Given the description of an element on the screen output the (x, y) to click on. 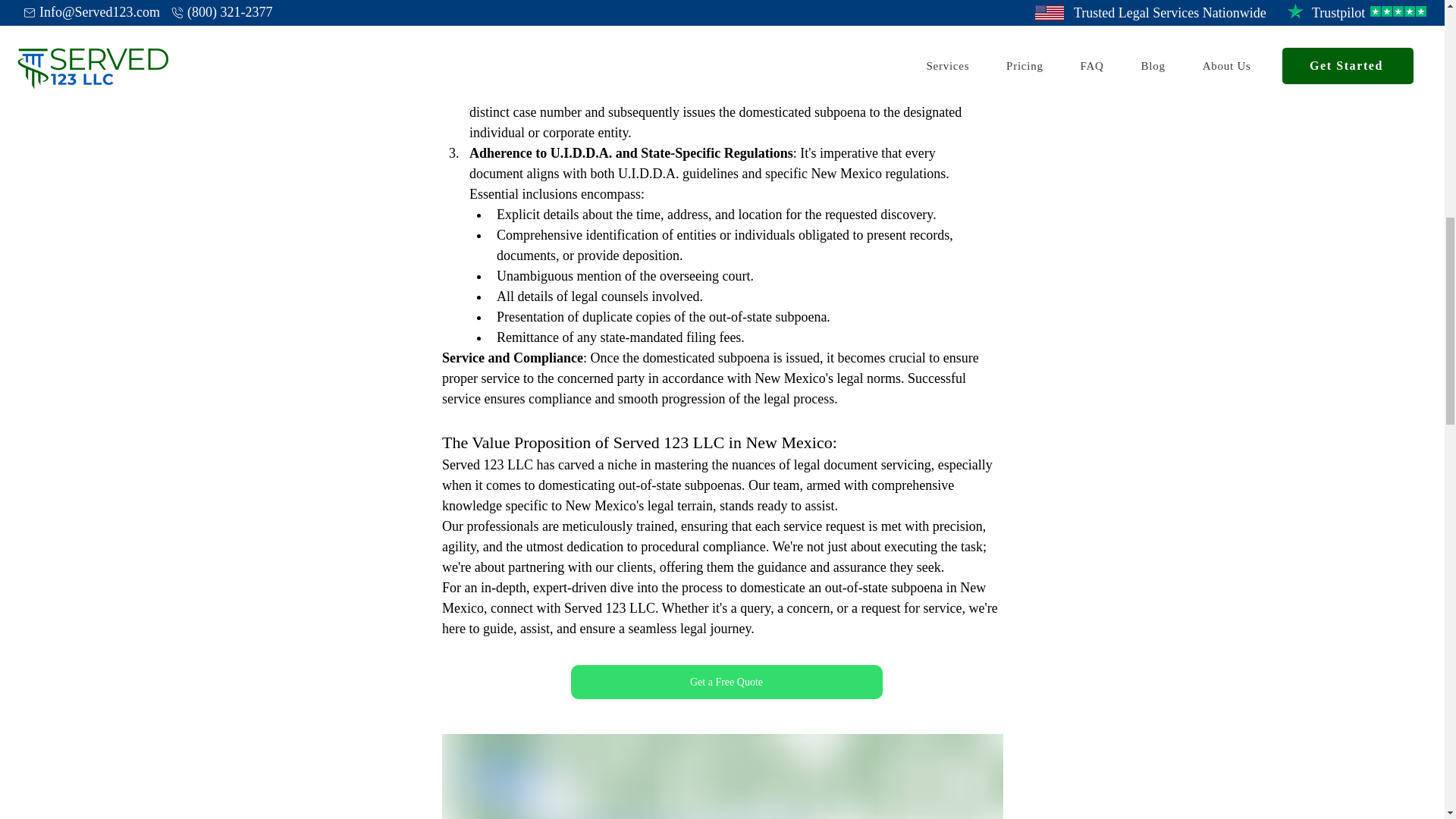
Get a Free Quote (726, 682)
